Given the description of an element on the screen output the (x, y) to click on. 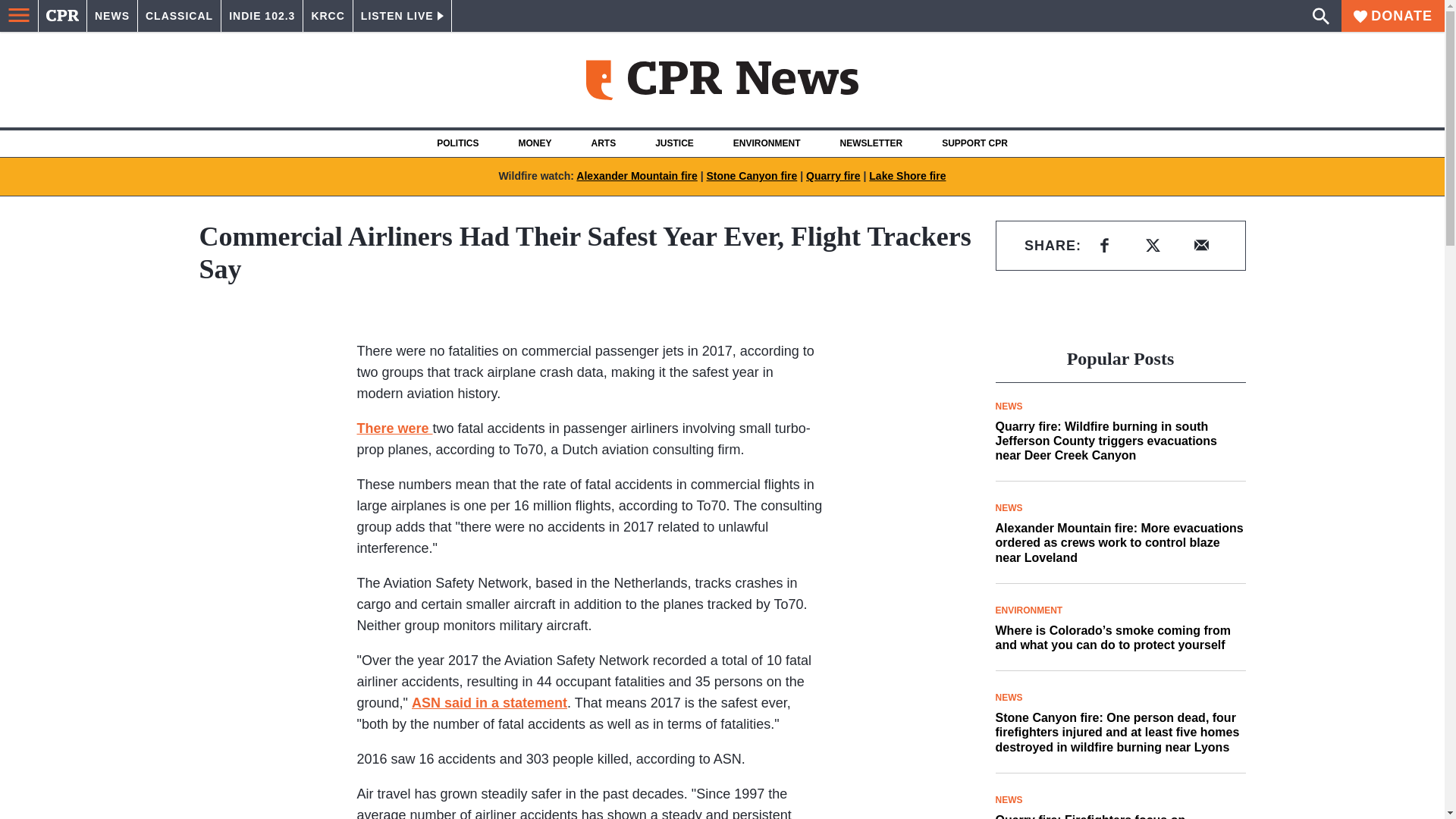
KRCC (327, 15)
INDIE 102.3 (261, 15)
CLASSICAL (179, 15)
LISTEN LIVE (402, 15)
NEWS (111, 15)
